Given the description of an element on the screen output the (x, y) to click on. 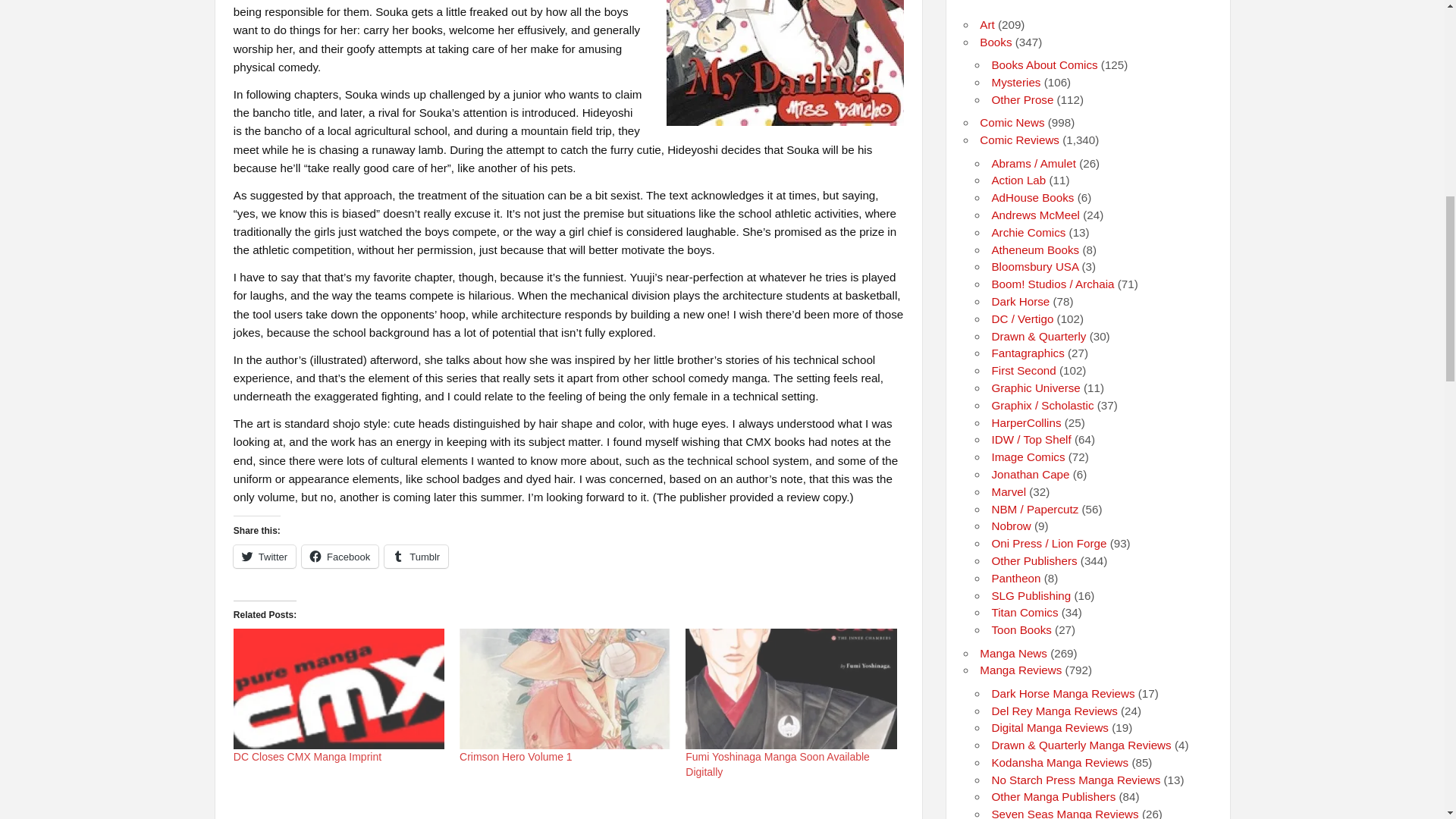
Twitter (263, 556)
Fumi Yoshinaga Manga Soon Available Digitally (790, 688)
DC Closes CMX Manga Imprint (338, 688)
Crimson Hero Volume 1 (516, 756)
Crimson Hero Volume 1 (516, 756)
Click to share on Twitter (263, 556)
DC Closes CMX Manga Imprint (306, 756)
Fumi Yoshinaga Manga Soon Available Digitally (777, 764)
Fumi Yoshinaga Manga Soon Available Digitally (777, 764)
Crimson Hero Volume 1 (564, 688)
Tumblr (416, 556)
Click to share on Facebook (339, 556)
Facebook (339, 556)
Click to share on Tumblr (416, 556)
DC Closes CMX Manga Imprint (306, 756)
